Given the description of an element on the screen output the (x, y) to click on. 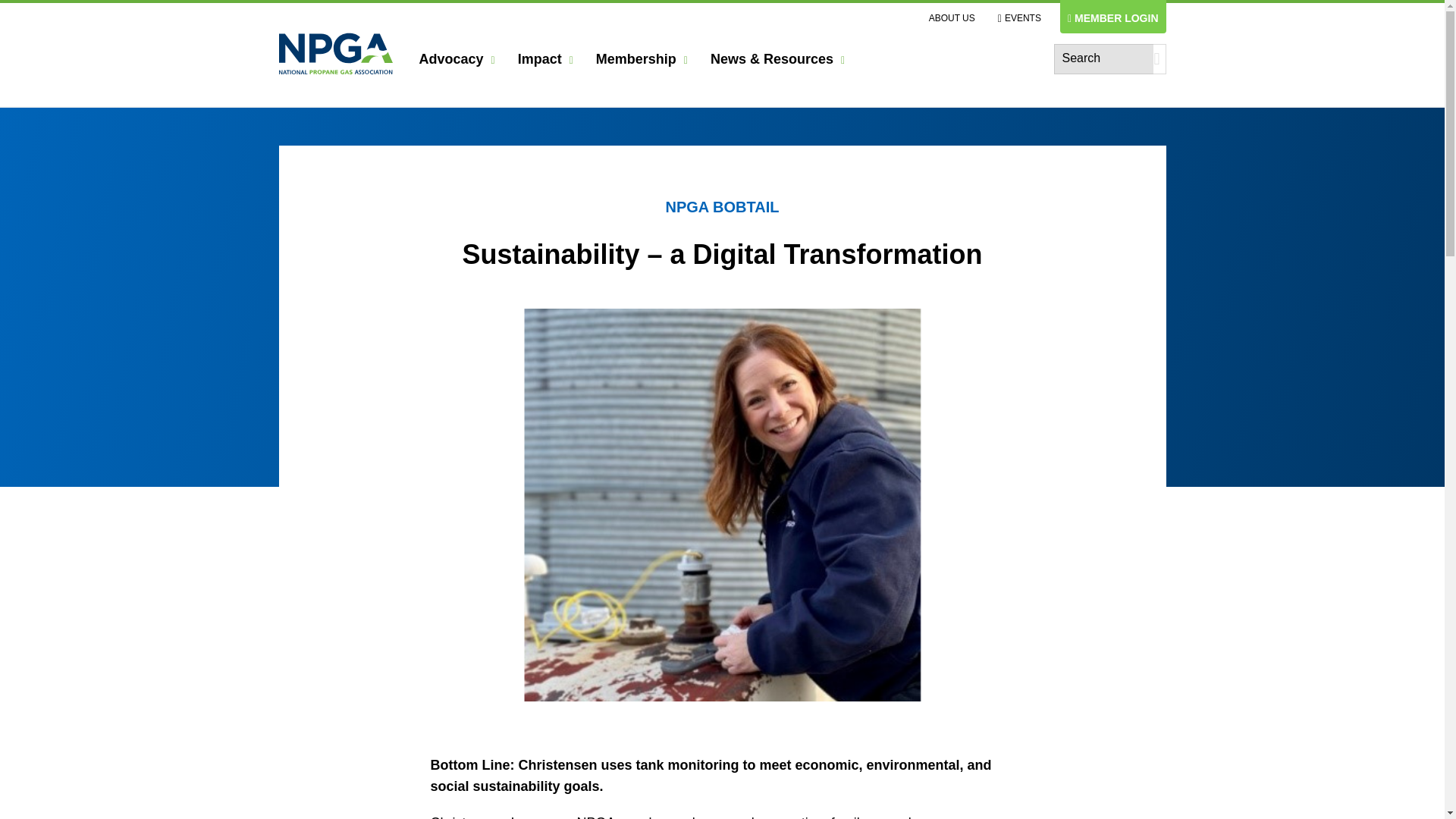
Membership (641, 58)
Impact (545, 58)
Go to Home Page (343, 58)
MEMBER LOGIN (1112, 16)
EVENTS (1019, 18)
ABOUT US (951, 18)
Advocacy (456, 58)
